Given the description of an element on the screen output the (x, y) to click on. 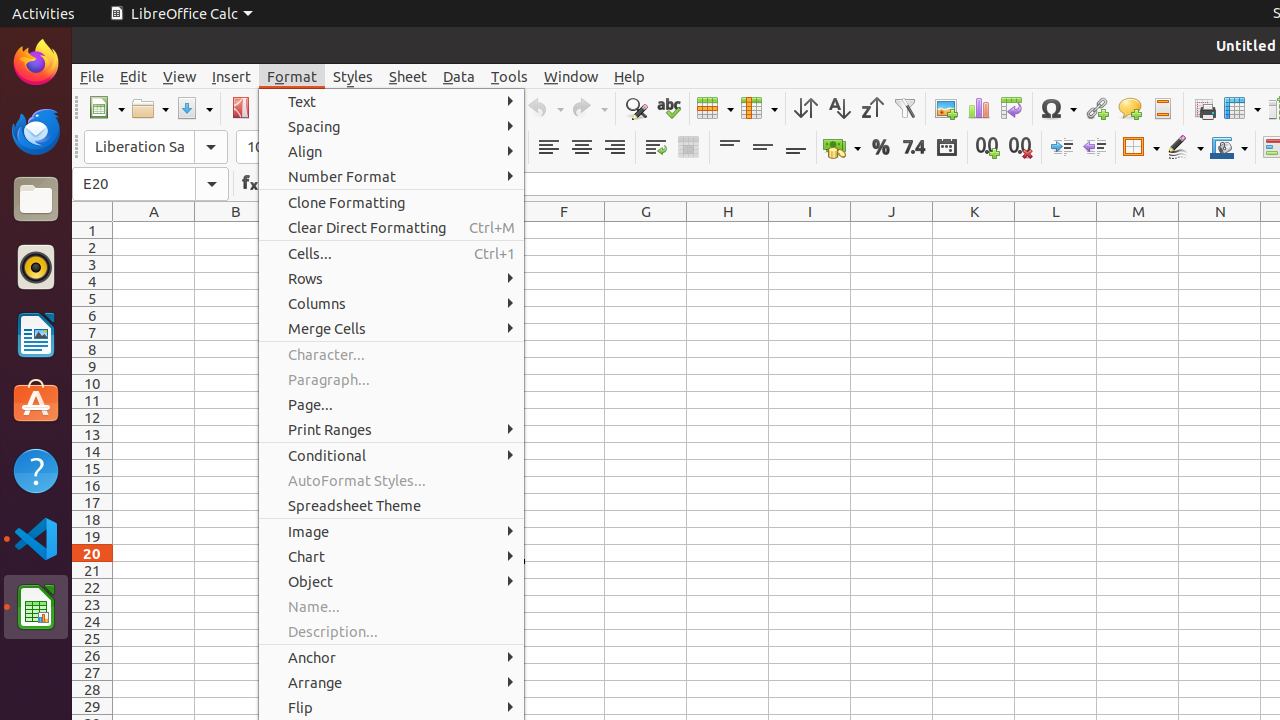
Chart Element type: menu (391, 556)
Headers and Footers Element type: push-button (1162, 108)
Insert Element type: menu (231, 76)
File Element type: menu (92, 76)
Freeze Rows and Columns Element type: push-button (1242, 108)
